Given the description of an element on the screen output the (x, y) to click on. 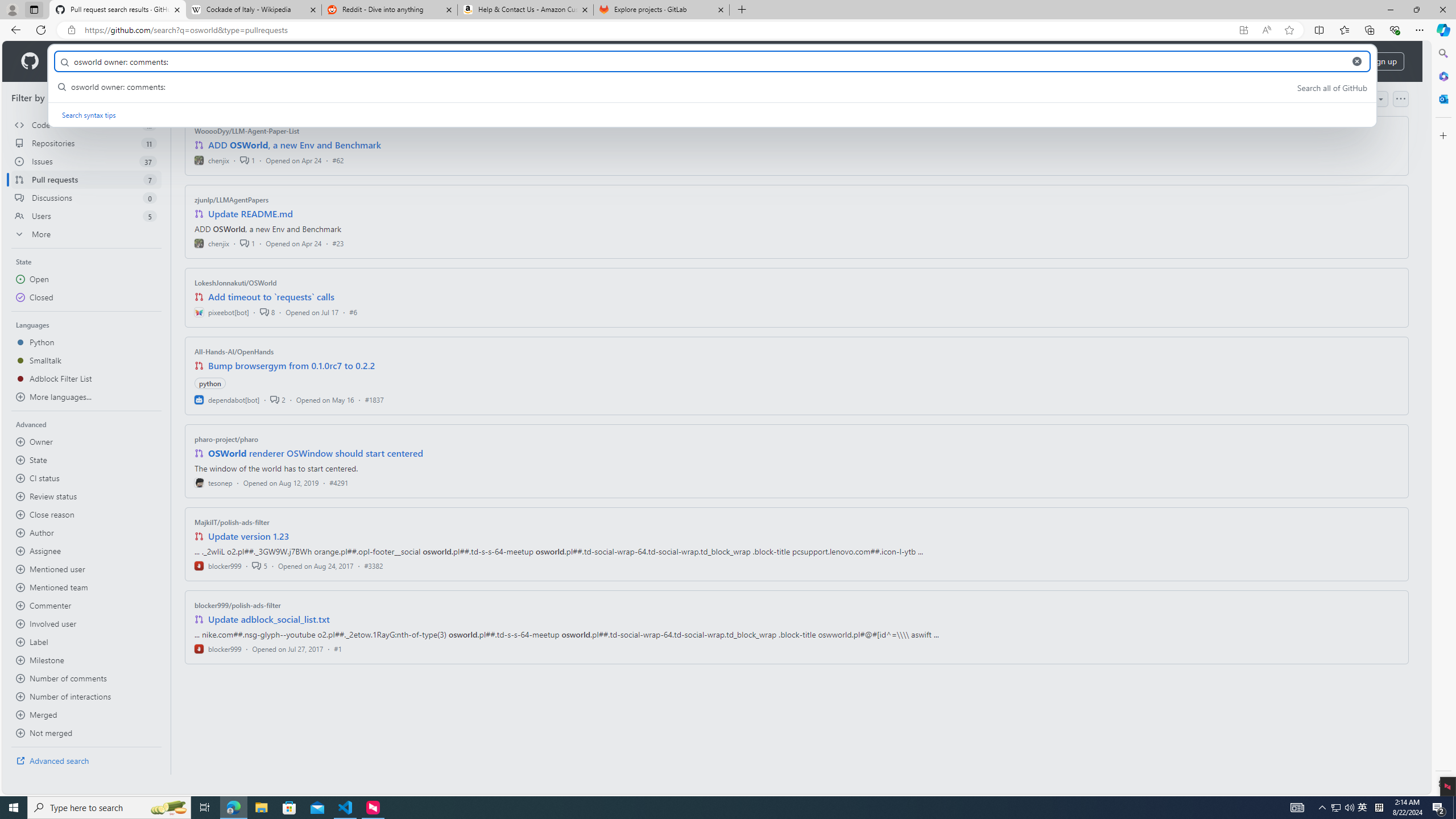
8 (267, 311)
#4291 (338, 482)
2 (277, 398)
OSWorld renderer OSWindow should start centered (315, 453)
Solutions (128, 60)
All-Hands-AI/OpenHands (234, 351)
